Given the description of an element on the screen output the (x, y) to click on. 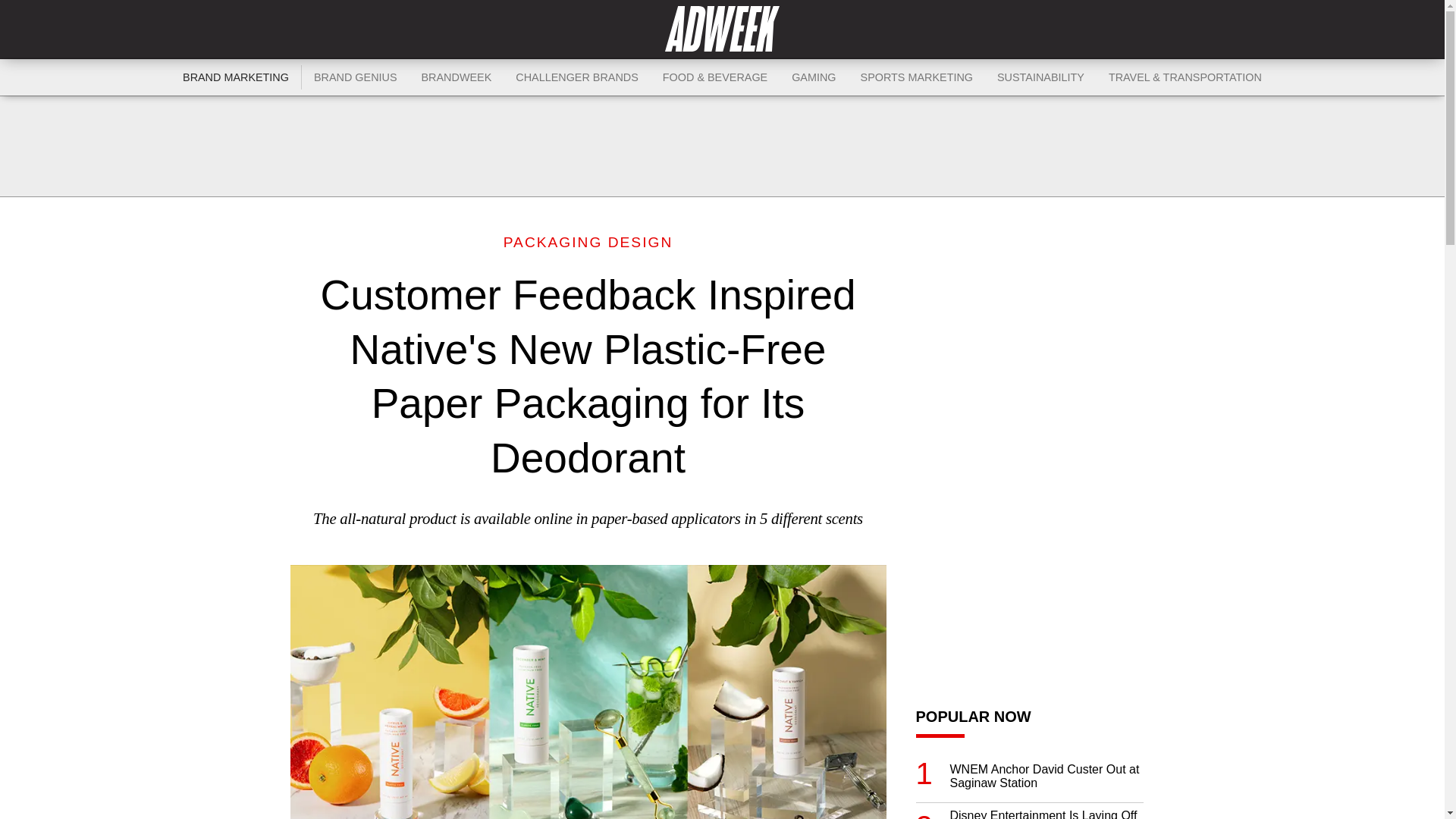
CHALLENGER BRANDS (576, 77)
SPORTS MARKETING (916, 77)
BRANDWEEK (456, 77)
BRAND GENIUS (355, 77)
GAMING (812, 77)
WNEM Anchor David Custer Out at Saginaw Station (1045, 776)
BRAND MARKETING (235, 77)
PACKAGING DESIGN (587, 242)
SUSTAINABILITY (1040, 77)
